Given the description of an element on the screen output the (x, y) to click on. 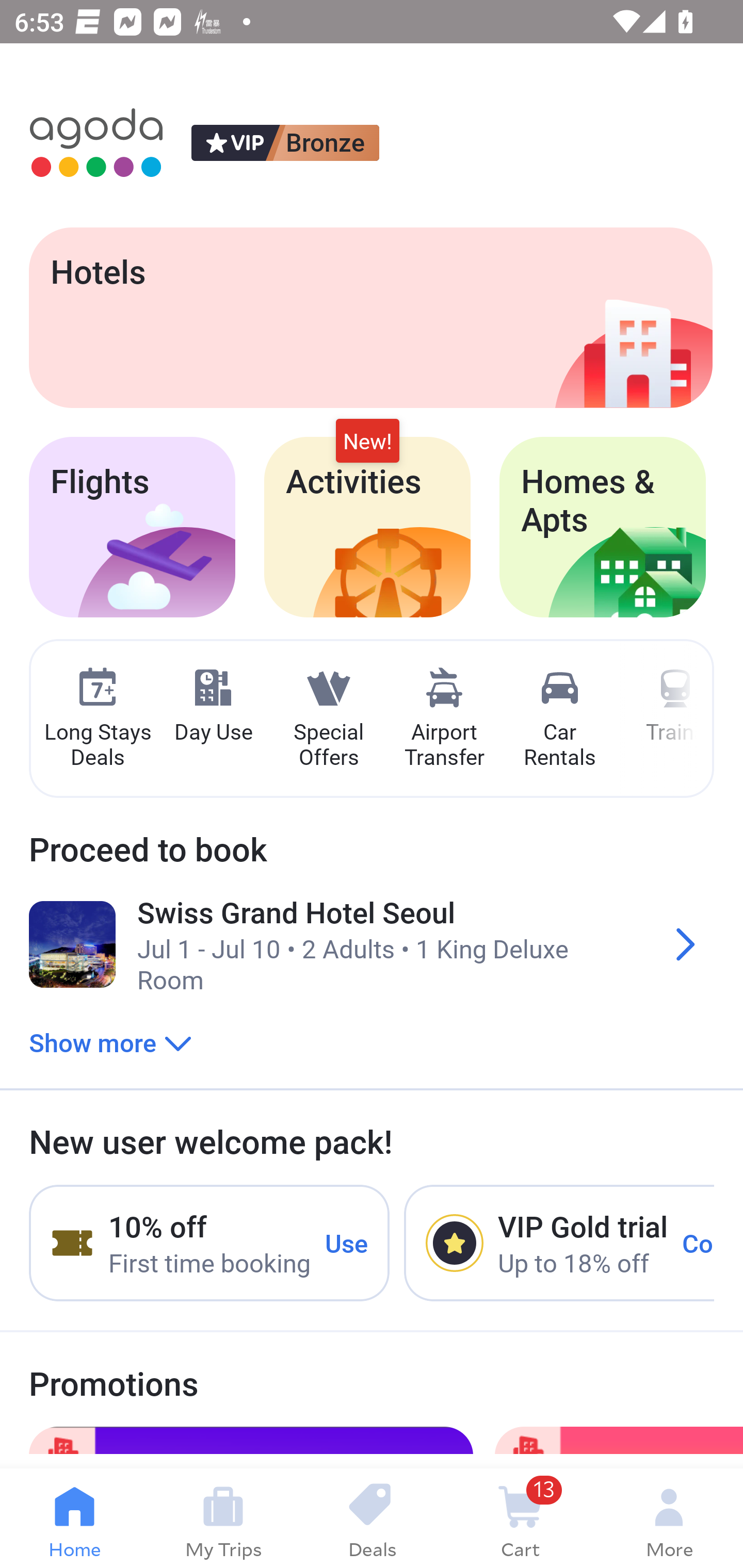
Hotels (370, 317)
New! (367, 441)
Flights (131, 527)
Activities (367, 527)
Homes & Apts (602, 527)
Day Use (213, 706)
Long Stays Deals (97, 718)
Special Offers (328, 718)
Airport Transfer (444, 718)
Car Rentals (559, 718)
Show more (110, 1041)
Use (346, 1242)
Home (74, 1518)
My Trips (222, 1518)
Deals (371, 1518)
13 Cart (519, 1518)
More (668, 1518)
